Given the description of an element on the screen output the (x, y) to click on. 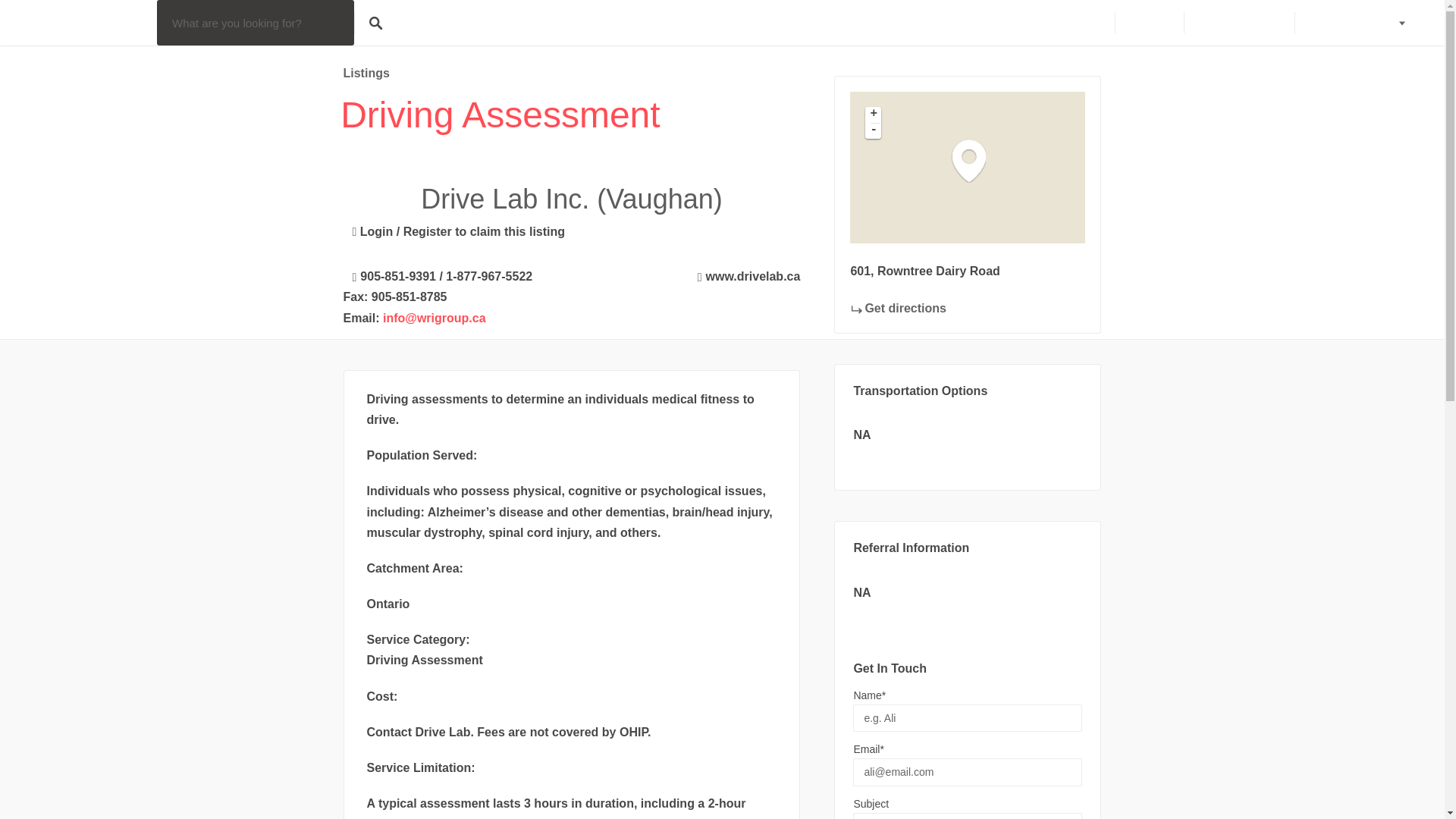
Service Providers (1358, 22)
About (1083, 22)
Research Studies (1238, 22)
Contact (1148, 22)
www.drivelab.ca (744, 273)
Listings (365, 73)
Get directions (898, 308)
- (872, 130)
Zoom out (872, 130)
Zoom in (872, 114)
